Given the description of an element on the screen output the (x, y) to click on. 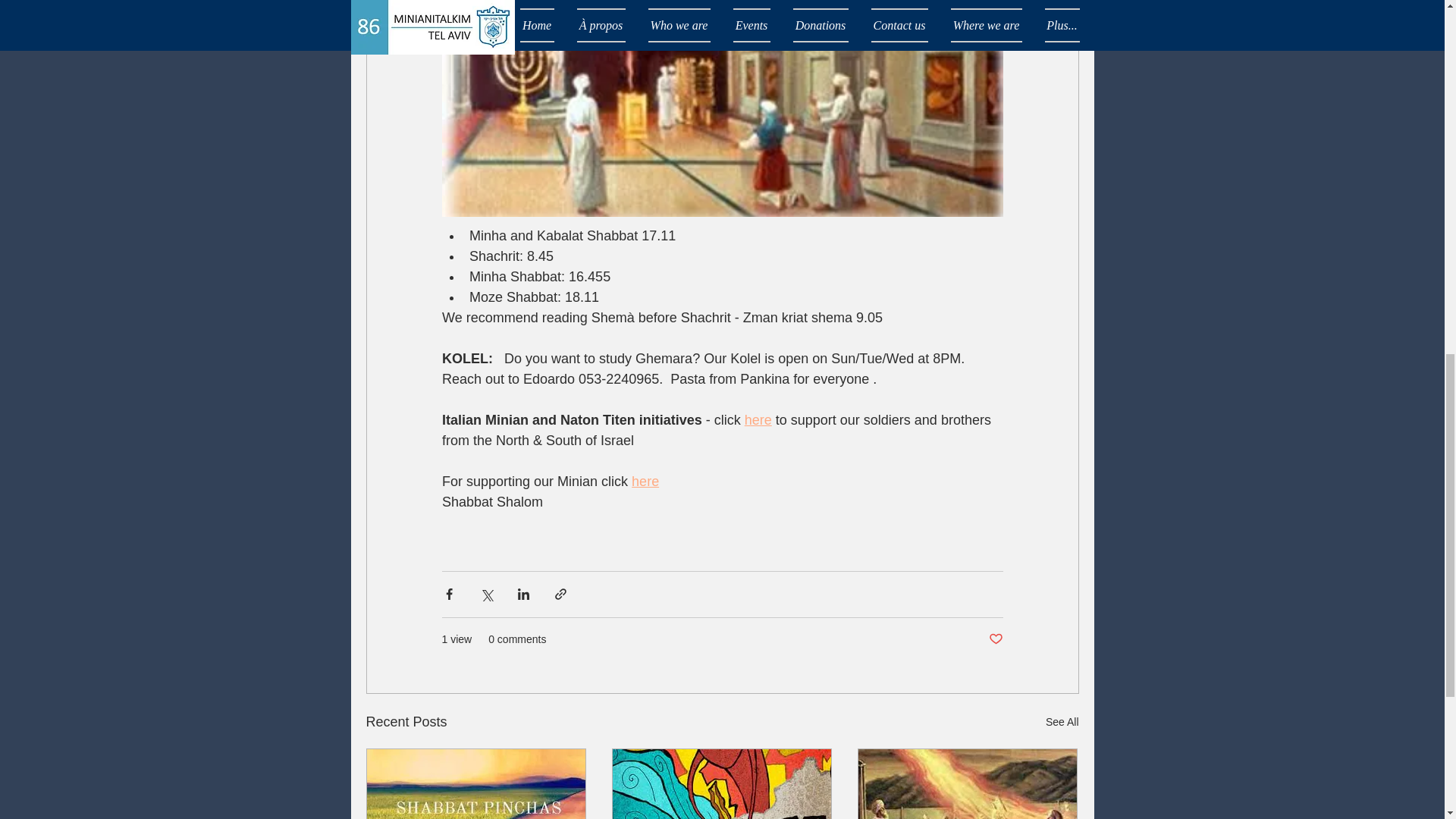
See All (1061, 722)
Post not marked as liked (995, 639)
here (757, 419)
here (645, 481)
